Given the description of an element on the screen output the (x, y) to click on. 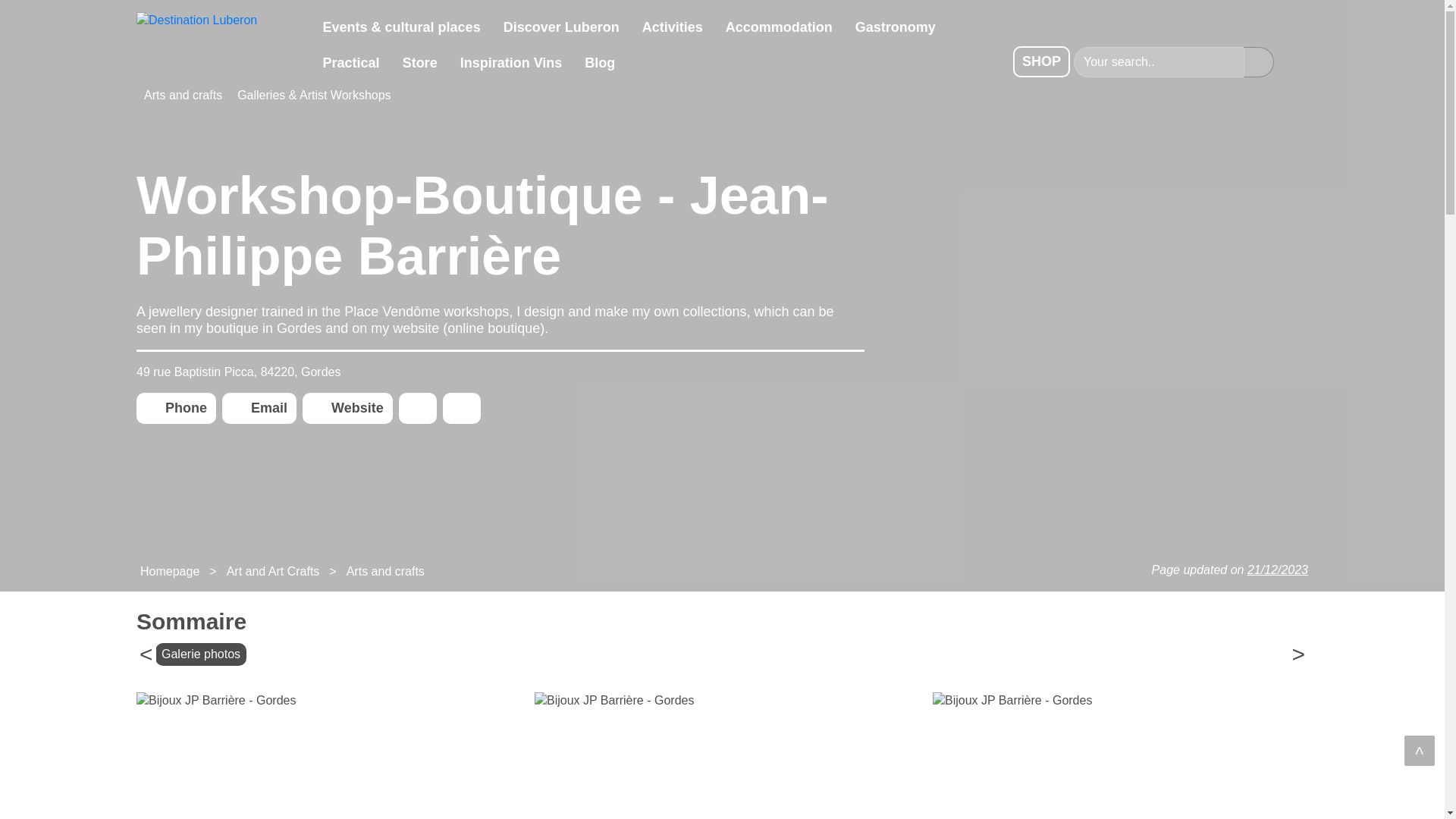
Destination Luberon (223, 47)
SHOP (1041, 60)
Art and Art Crafts (272, 571)
Email (259, 408)
Discover Luberon (561, 28)
Arts and crafts (183, 95)
Practical (351, 64)
Gastronomy (895, 28)
Store (419, 64)
Inspiration Vins (510, 64)
